Given the description of an element on the screen output the (x, y) to click on. 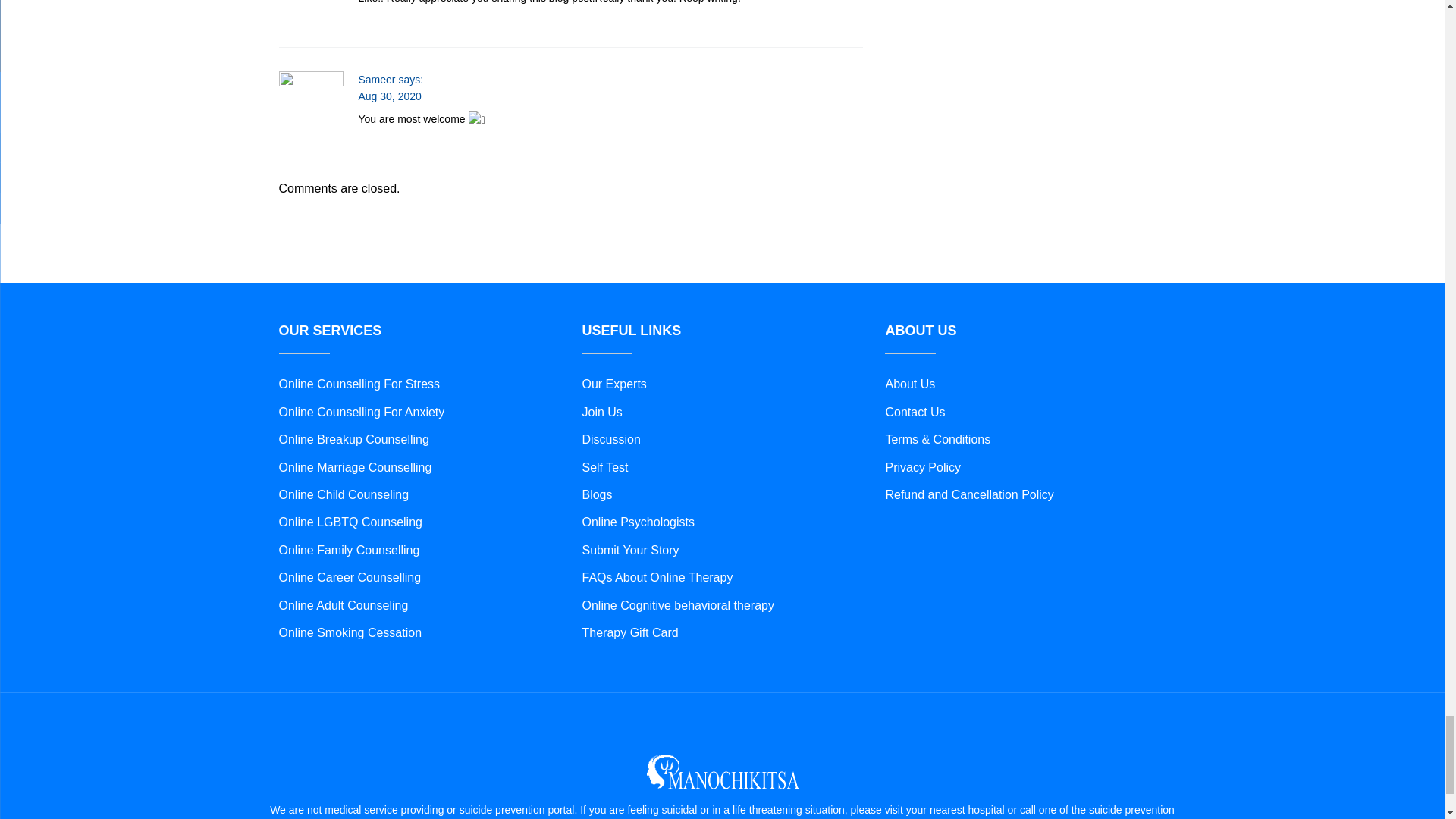
Aug 30, 2020 (389, 96)
